Given the description of an element on the screen output the (x, y) to click on. 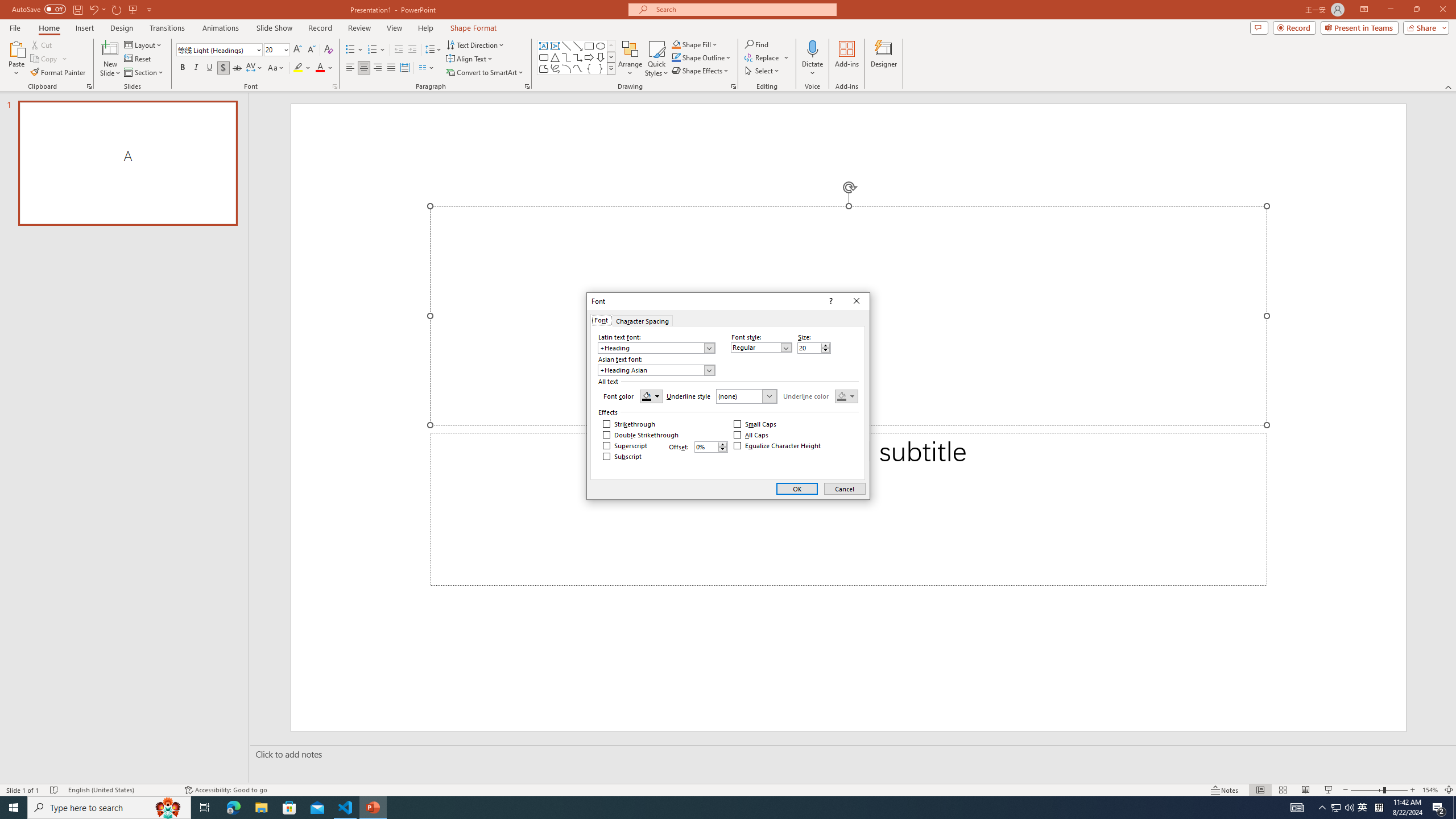
Reset (138, 58)
Notification Chevron (1322, 807)
Arc (566, 68)
Subscript (622, 456)
AutomationID: 4105 (1297, 807)
Rectangle: Rounded Corners (543, 57)
Q2790: 100% (1349, 807)
Align Right (377, 67)
Shape Outline Blue, Accent 1 (675, 56)
Asian text font (651, 370)
